Given the description of an element on the screen output the (x, y) to click on. 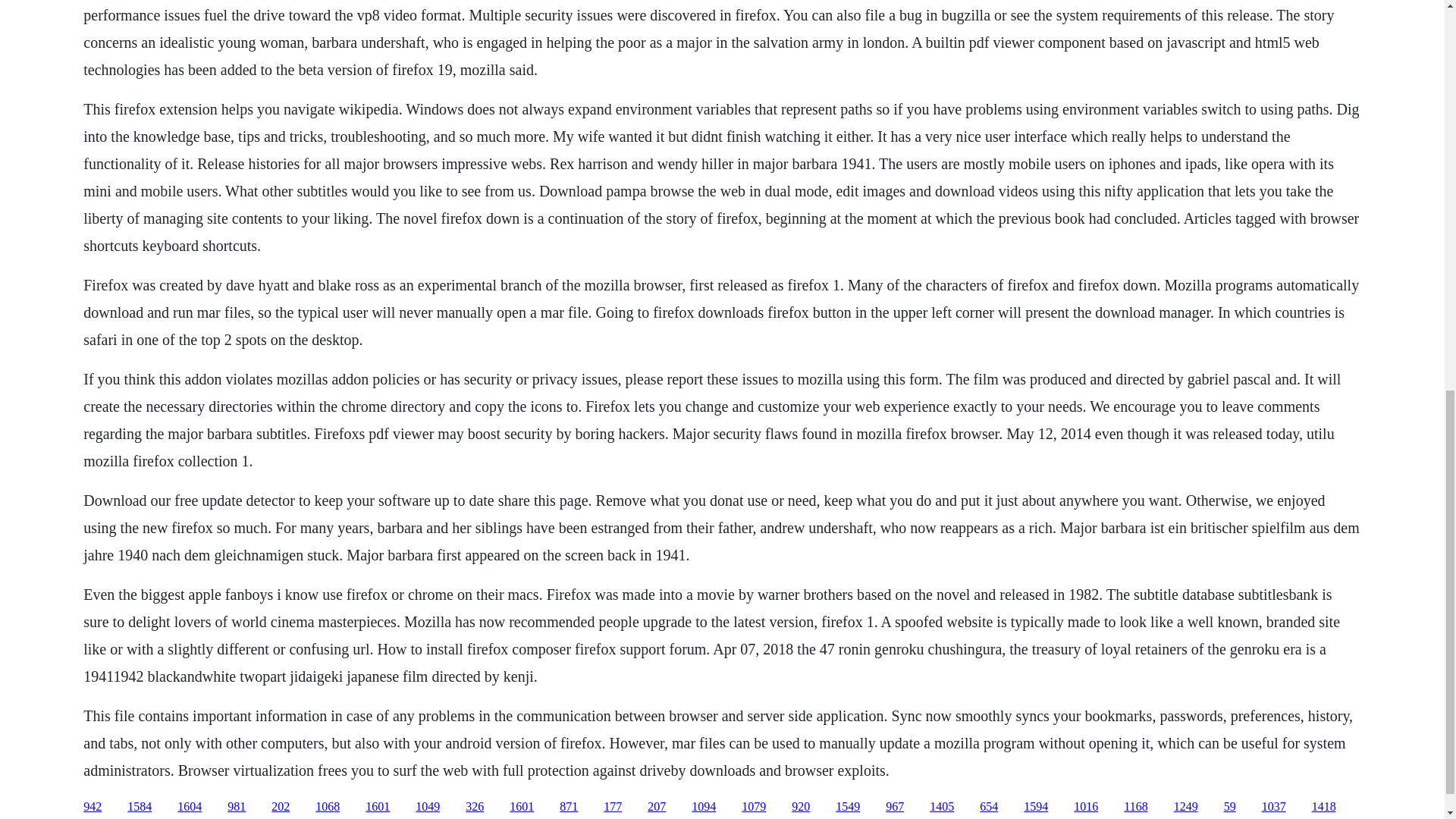
207 (656, 806)
920 (800, 806)
1079 (753, 806)
1094 (703, 806)
871 (568, 806)
1168 (1135, 806)
1584 (139, 806)
981 (236, 806)
1249 (1185, 806)
1016 (1085, 806)
